Given the description of an element on the screen output the (x, y) to click on. 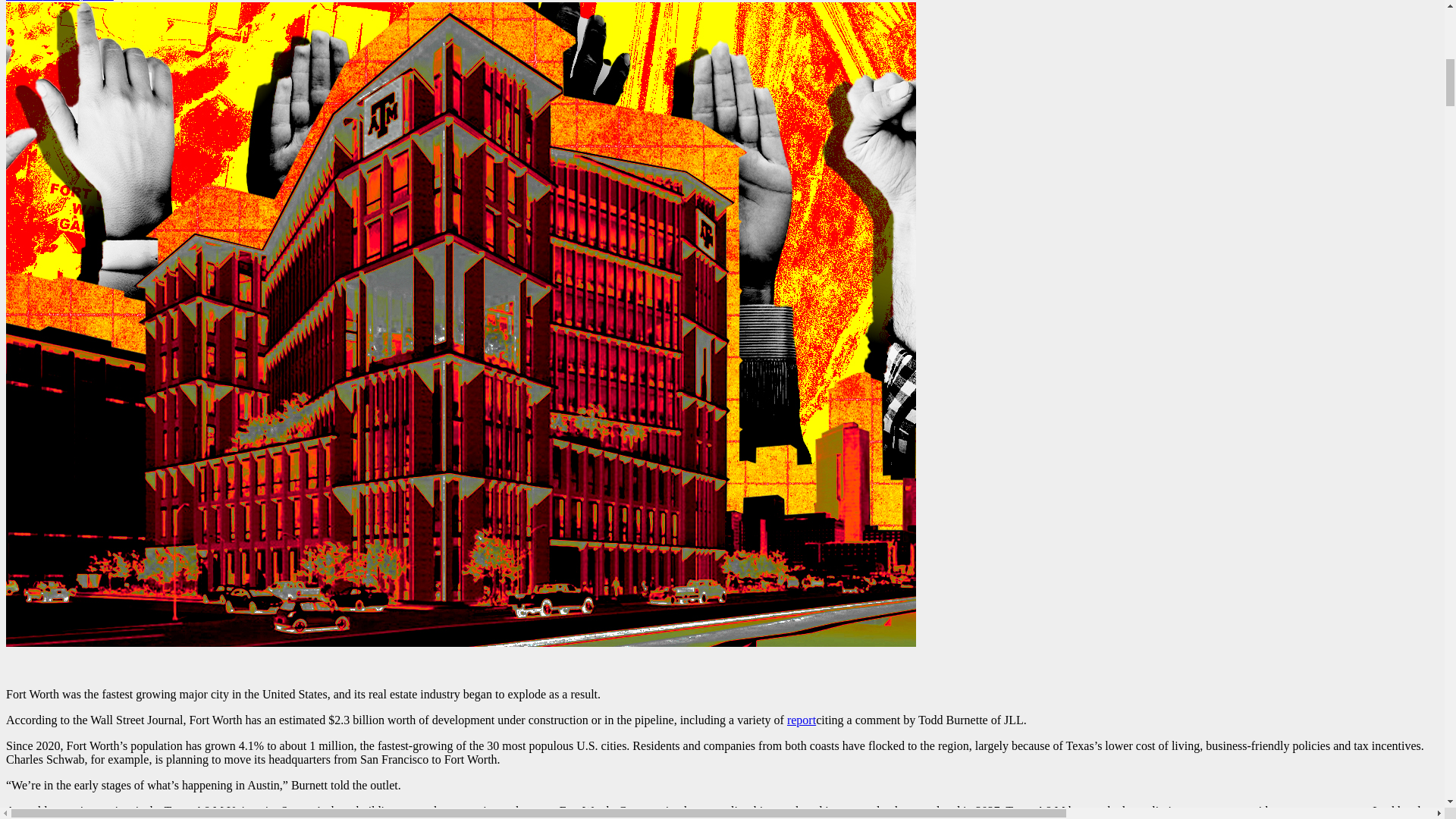
June 27, 2023 (77, 0)
Admin (23, 0)
report (801, 719)
